Given the description of an element on the screen output the (x, y) to click on. 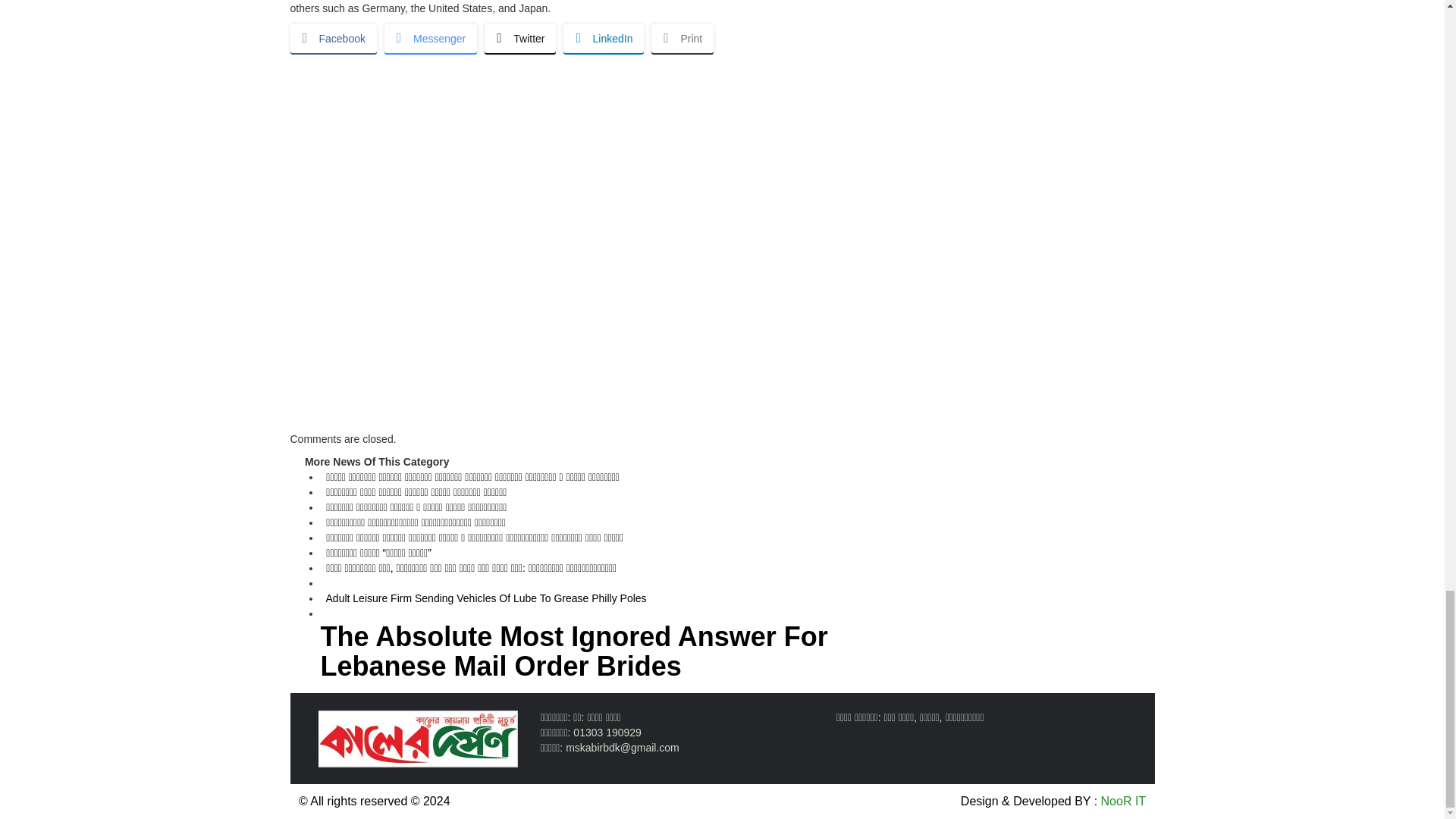
Twitter (520, 38)
Facebook (332, 38)
Print (681, 38)
Messenger (430, 38)
LinkedIn (603, 38)
